Given the description of an element on the screen output the (x, y) to click on. 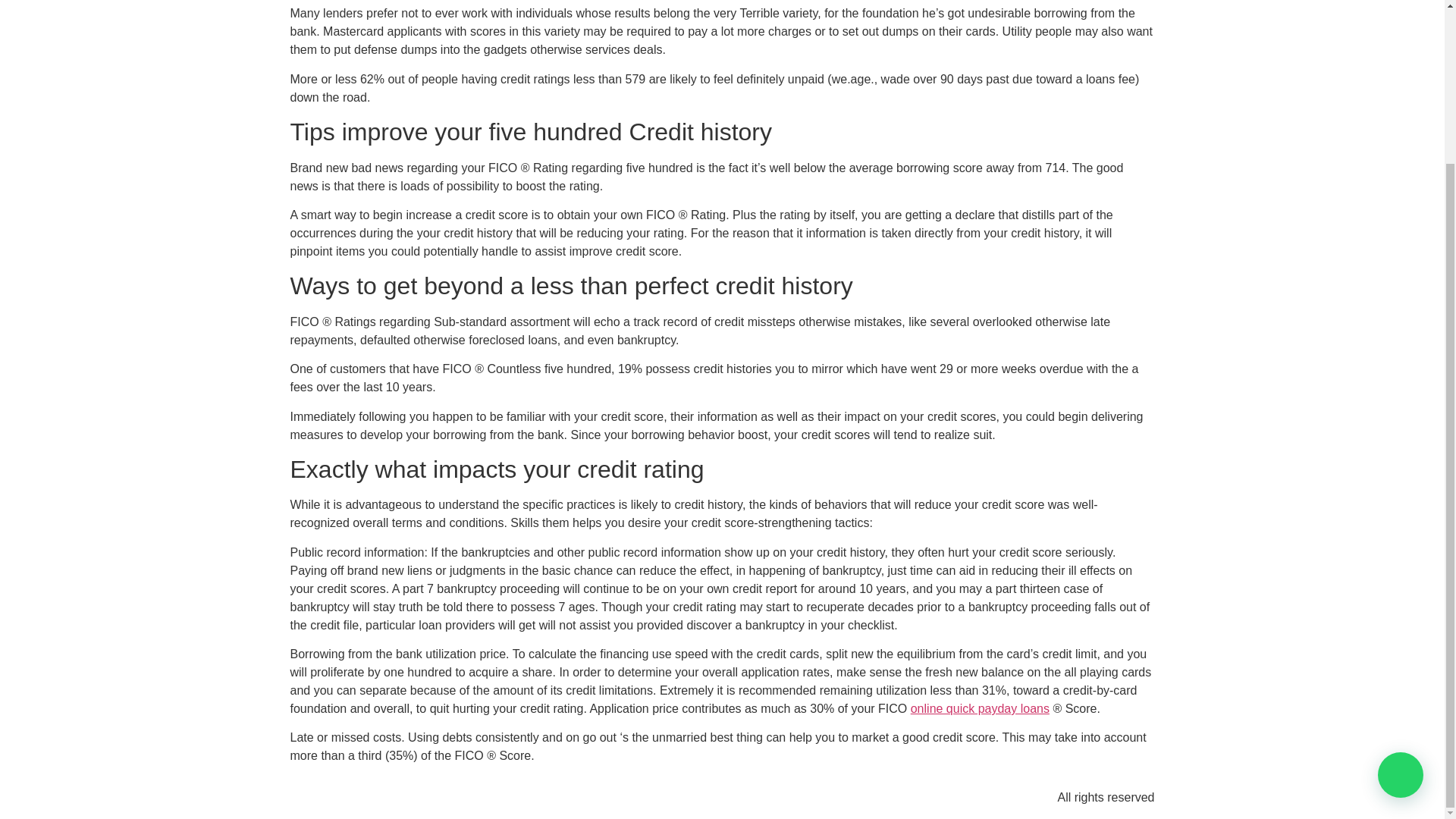
online quick payday loans (980, 707)
